Given the description of an element on the screen output the (x, y) to click on. 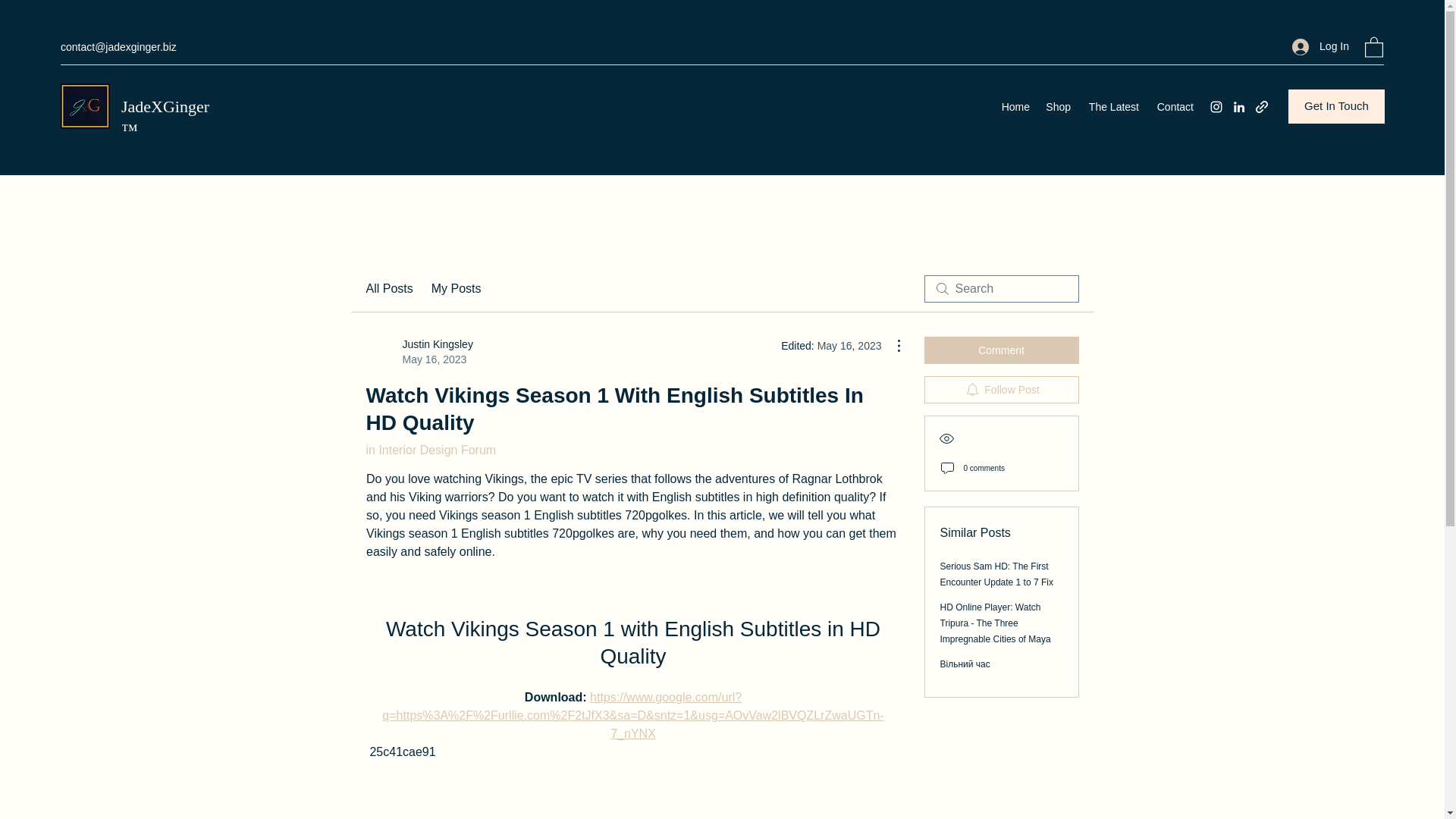
Follow Post (1000, 389)
Serious Sam HD: The First Encounter Update 1 to 7 Fix (996, 574)
Contact (1174, 106)
Log In (1320, 46)
Shop (1057, 106)
Home (1014, 106)
Get In Touch (1336, 106)
in Interior Design Forum (430, 449)
All Posts (388, 289)
